Given the description of an element on the screen output the (x, y) to click on. 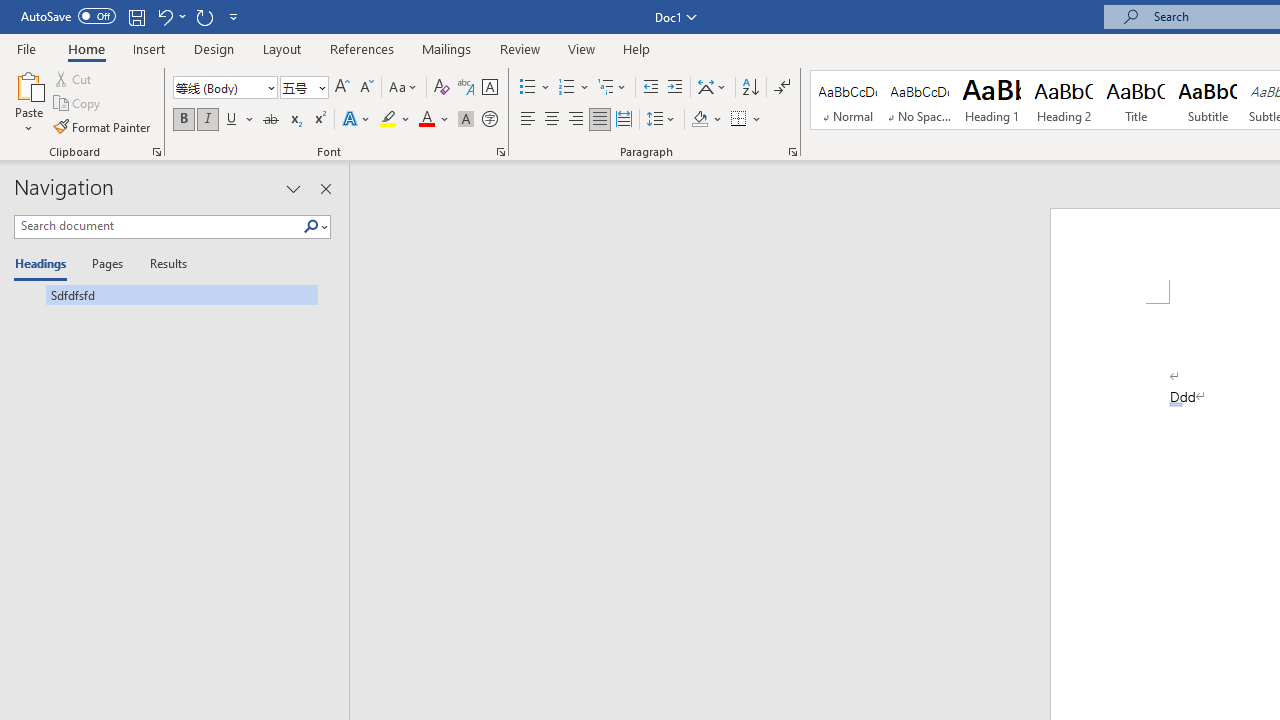
Align Right (575, 119)
Bullets (527, 87)
Layout (282, 48)
Underline (232, 119)
Font Size (297, 87)
Action: Undo Auto Actions (1175, 403)
Subtitle (1208, 100)
Justify (599, 119)
References (362, 48)
Asian Layout (712, 87)
Increase Indent (675, 87)
Borders (746, 119)
Center (552, 119)
Close pane (325, 188)
